Given the description of an element on the screen output the (x, y) to click on. 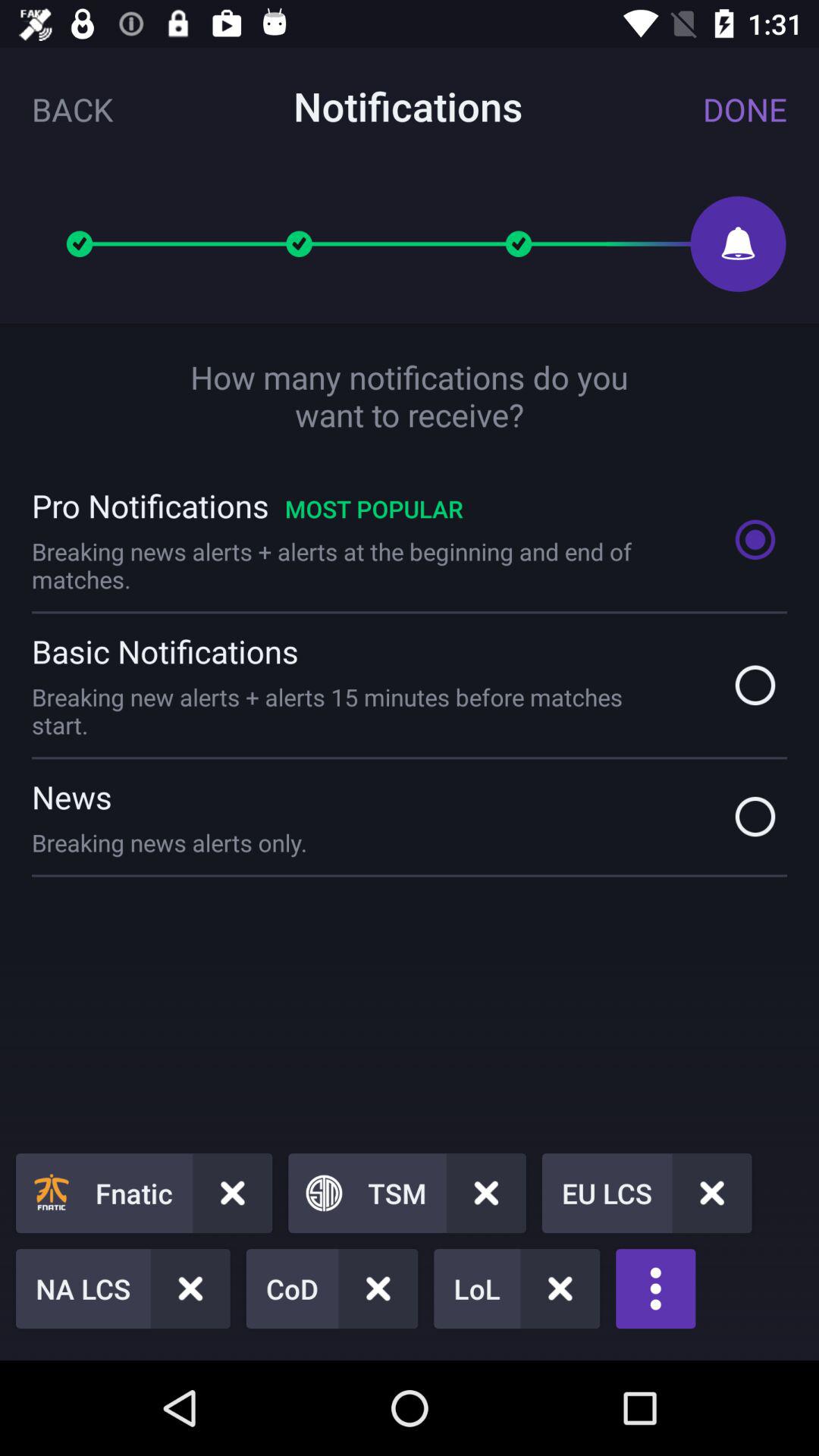
open the done (745, 108)
